Given the description of an element on the screen output the (x, y) to click on. 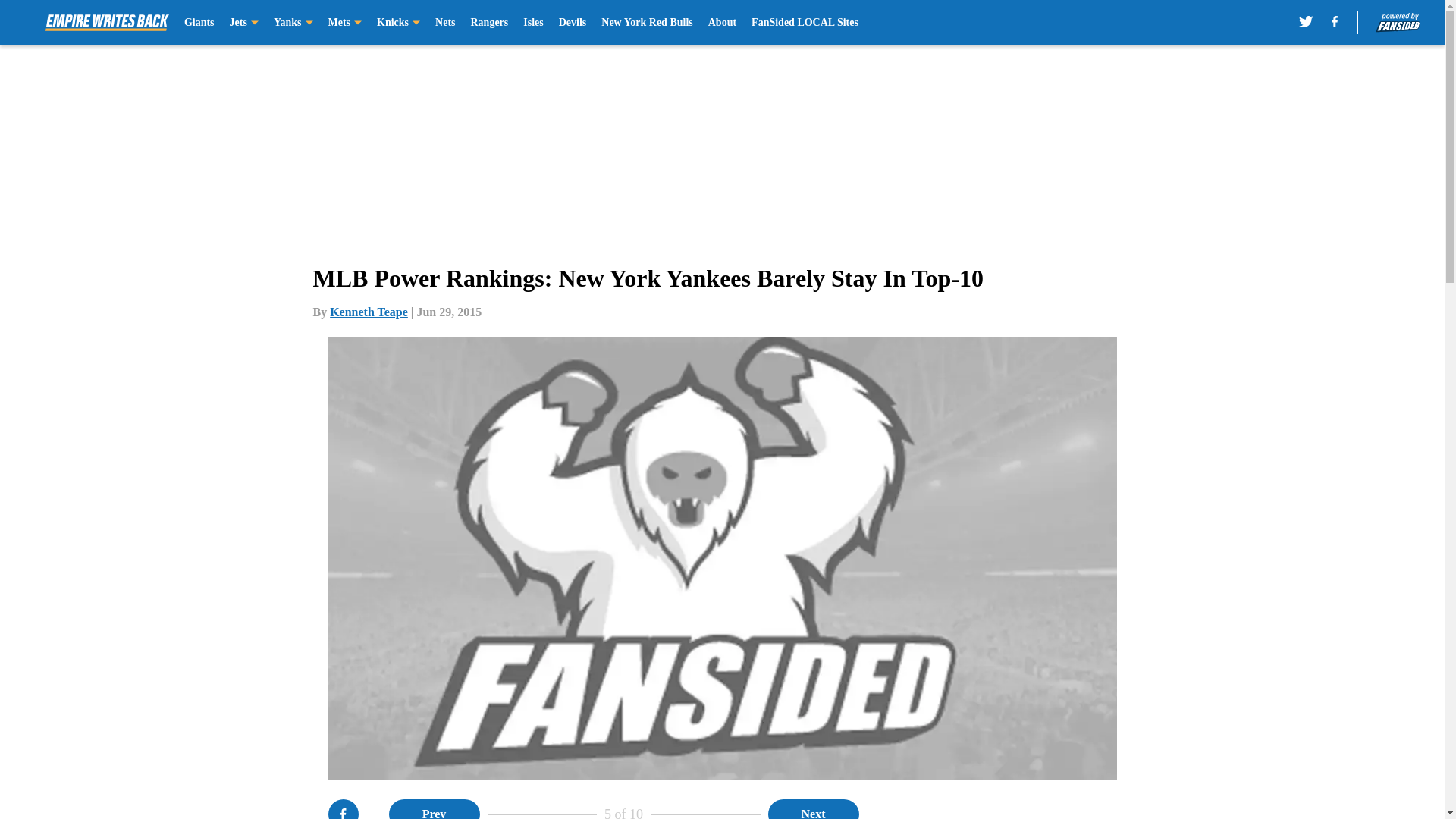
Next (813, 809)
Rangers (489, 22)
Kenneth Teape (368, 311)
Devils (572, 22)
New York Red Bulls (647, 22)
Nets (444, 22)
About (721, 22)
Prev (433, 809)
Isles (532, 22)
Giants (199, 22)
FanSided LOCAL Sites (805, 22)
